Given the description of an element on the screen output the (x, y) to click on. 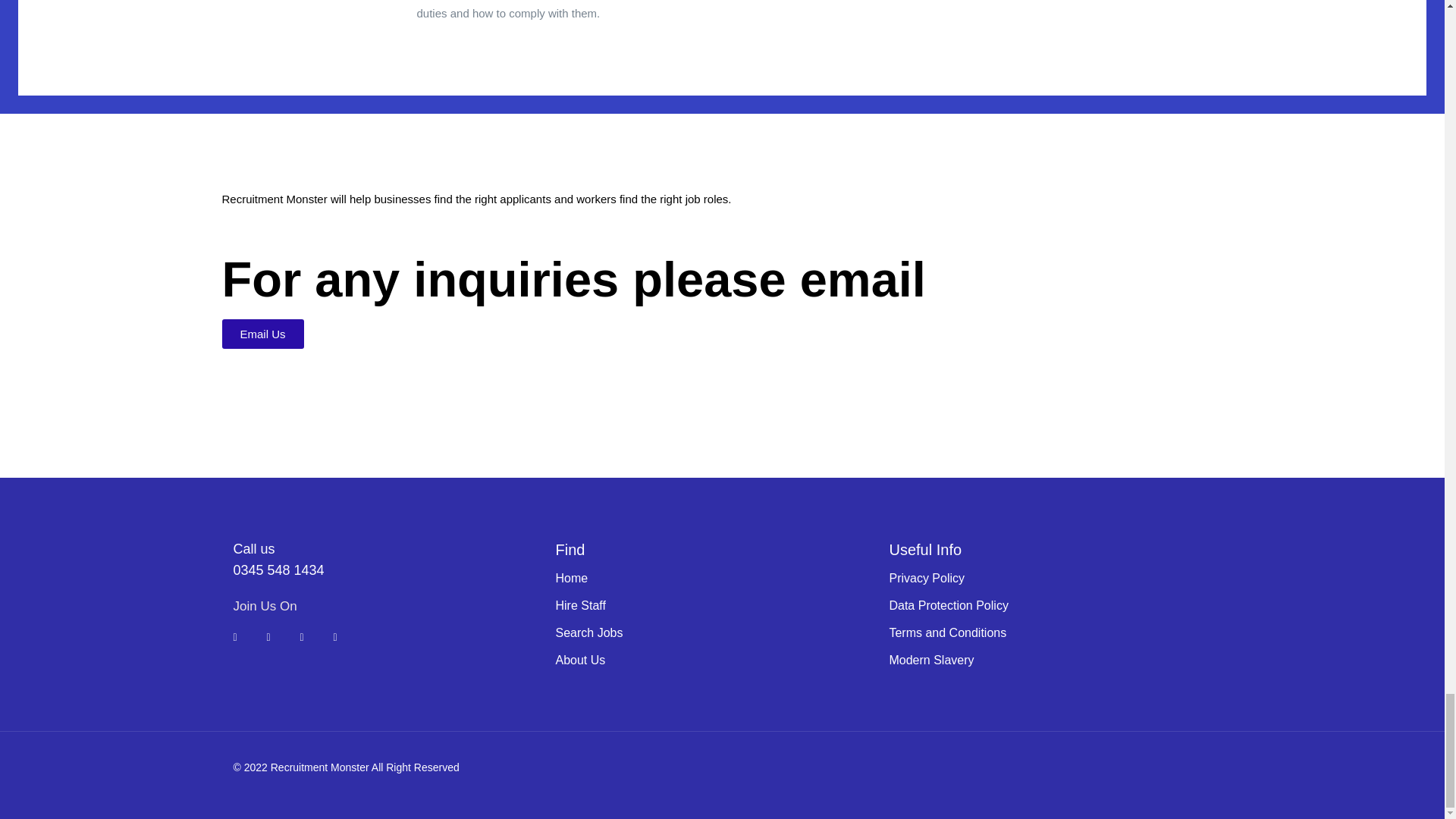
Search Jobs (588, 632)
Home (571, 577)
Email Us (261, 333)
Hire Staff (579, 604)
